Given the description of an element on the screen output the (x, y) to click on. 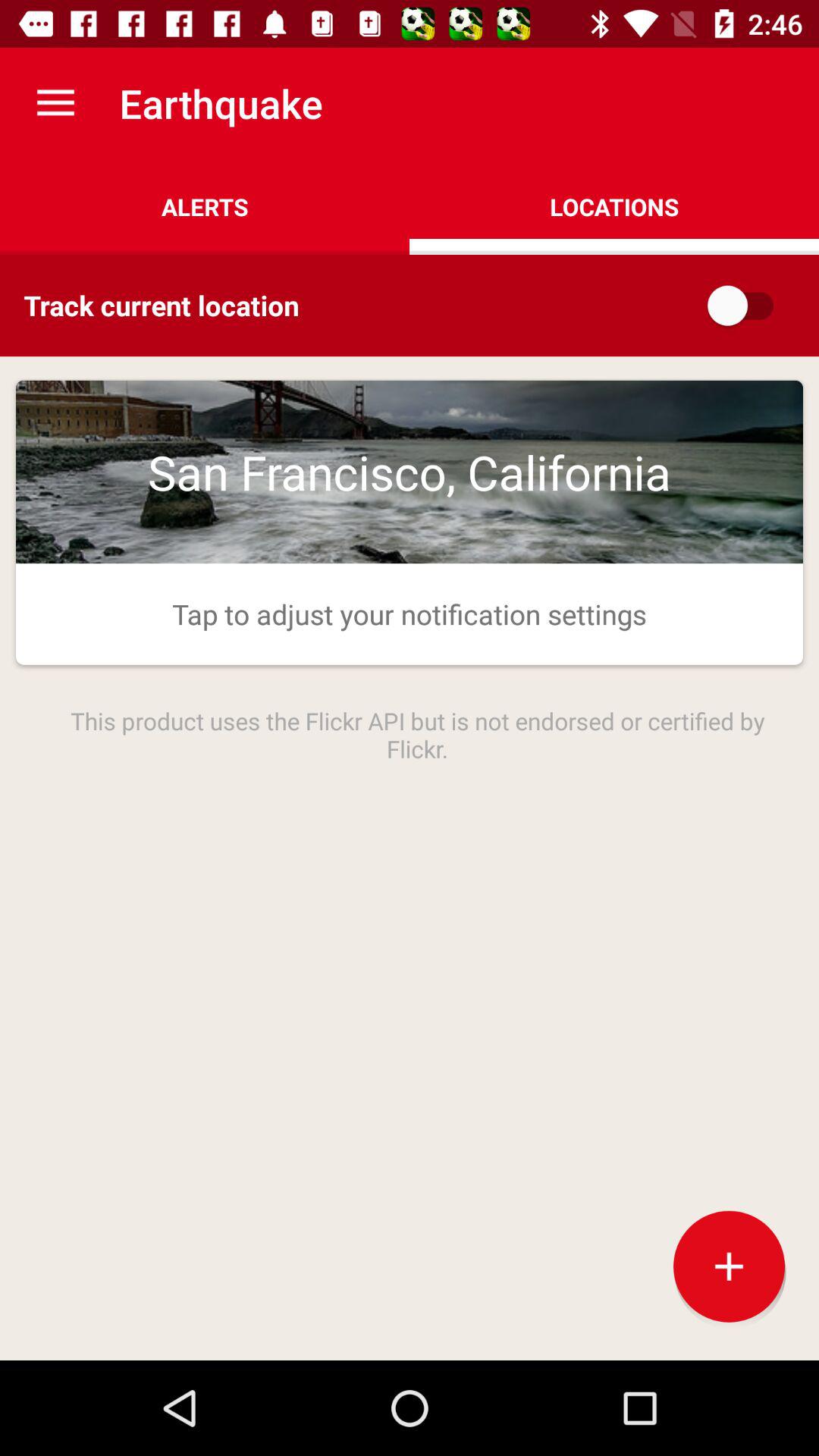
press the item to the left of the earthquake item (55, 103)
